Given the description of an element on the screen output the (x, y) to click on. 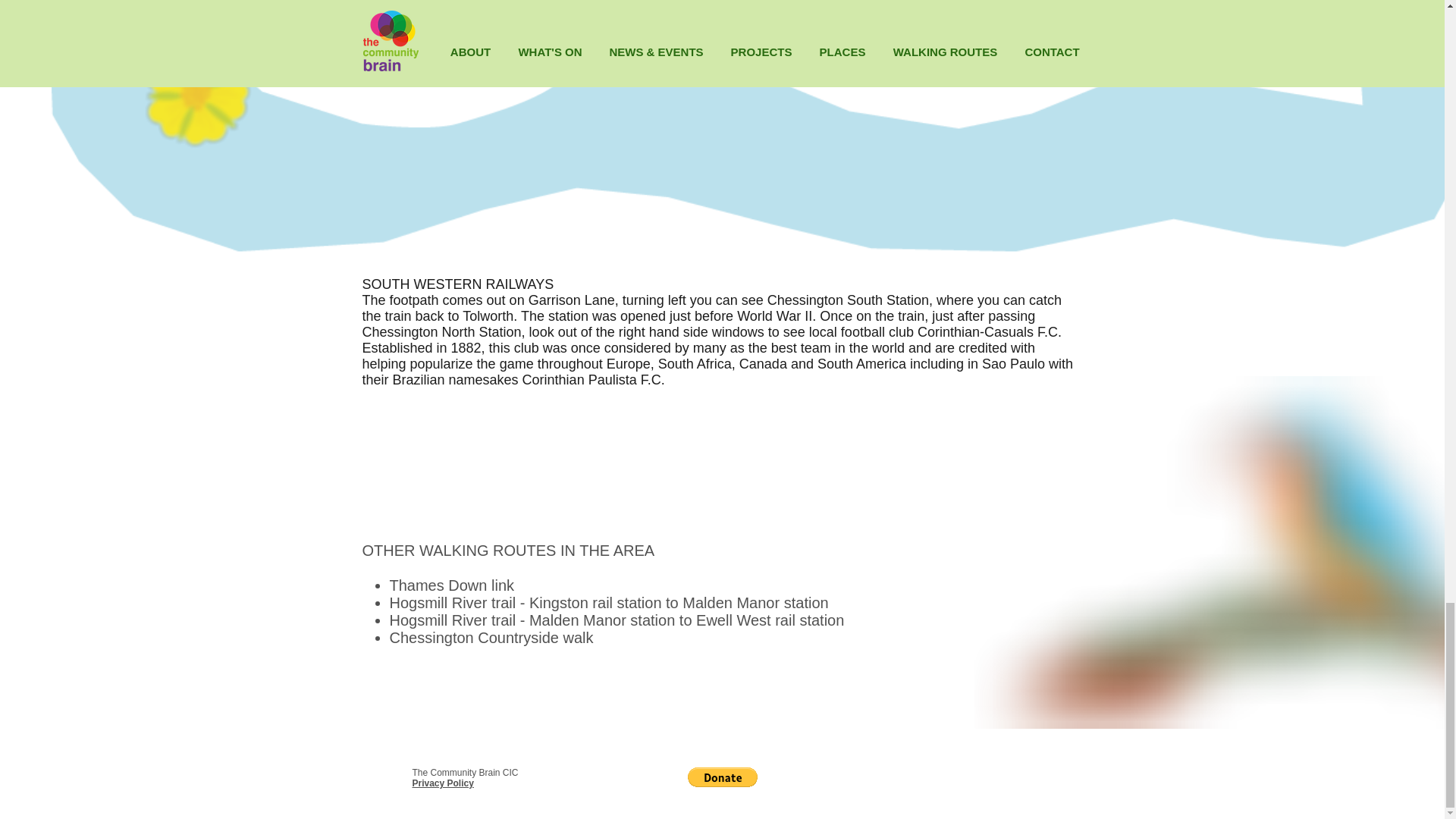
Privacy Policy (443, 783)
